Given the description of an element on the screen output the (x, y) to click on. 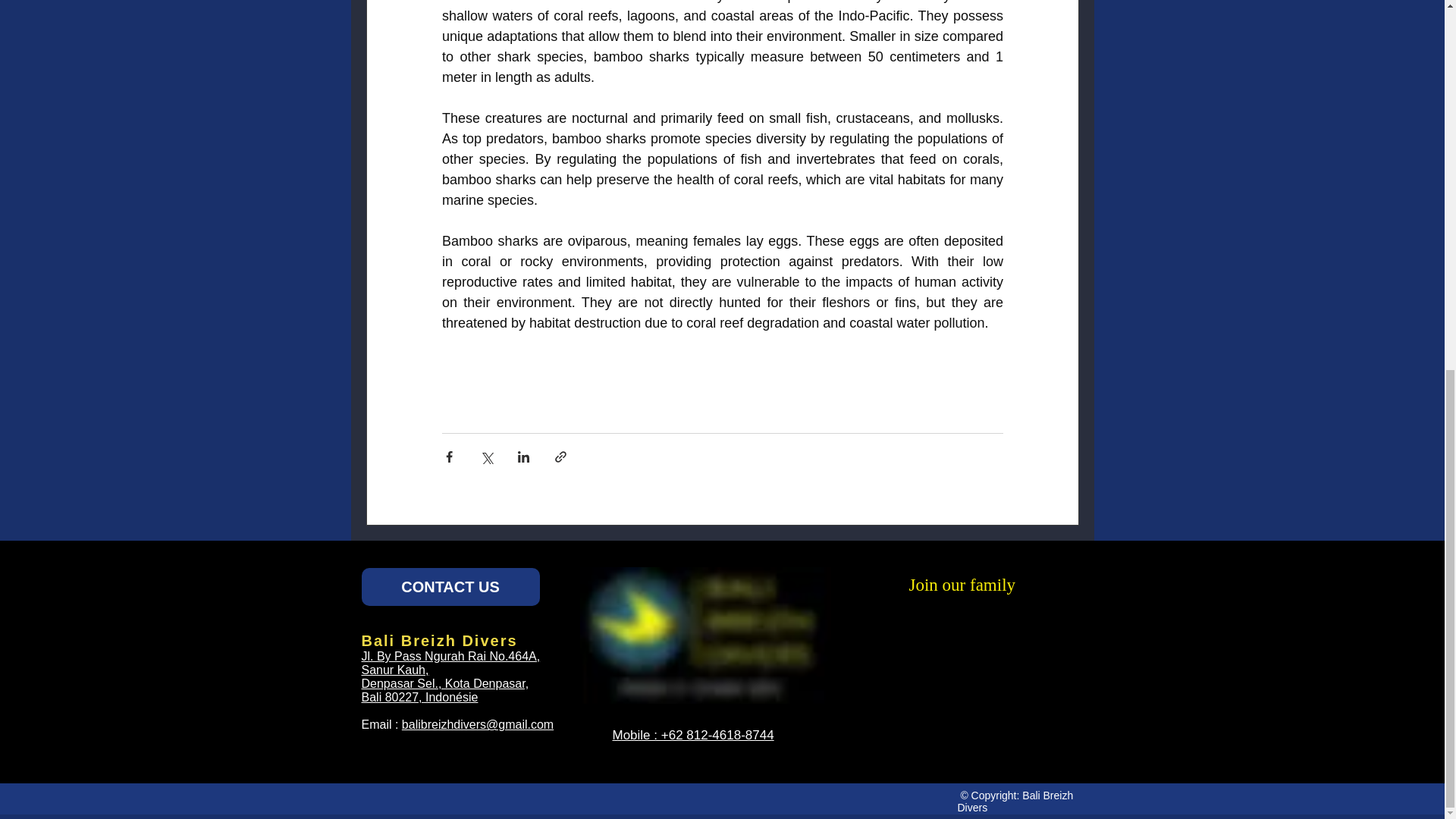
logo dive center padi bali (704, 635)
